Given the description of an element on the screen output the (x, y) to click on. 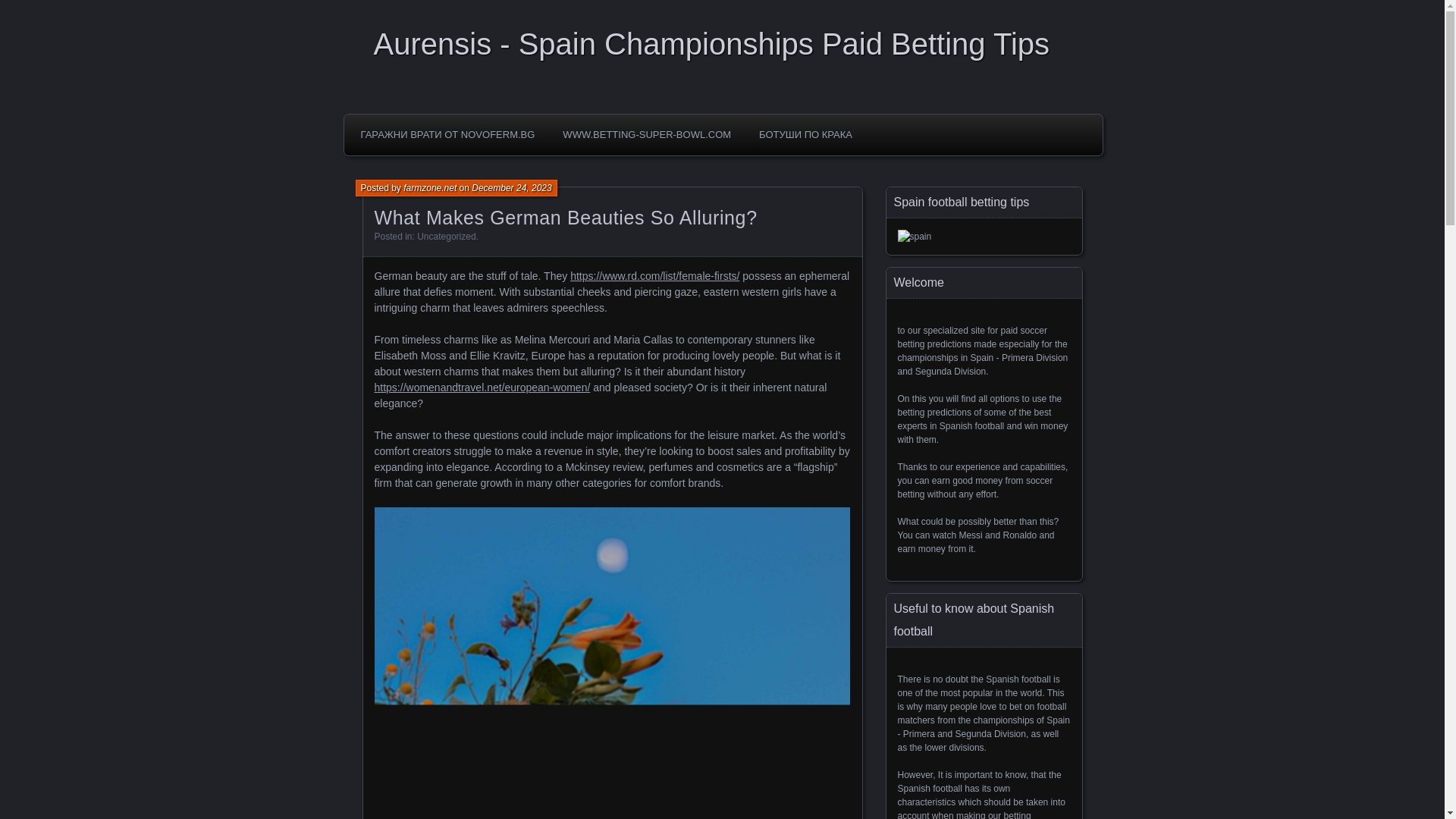
December 24, 2023 (511, 187)
WWW.BETTING-SUPER-BOWL.COM (646, 134)
Aurensis - Spain Championships Paid Betting Tips (726, 44)
farmzone.net (430, 187)
View all posts by farmzone.net (430, 187)
Search (21, 7)
